Given the description of an element on the screen output the (x, y) to click on. 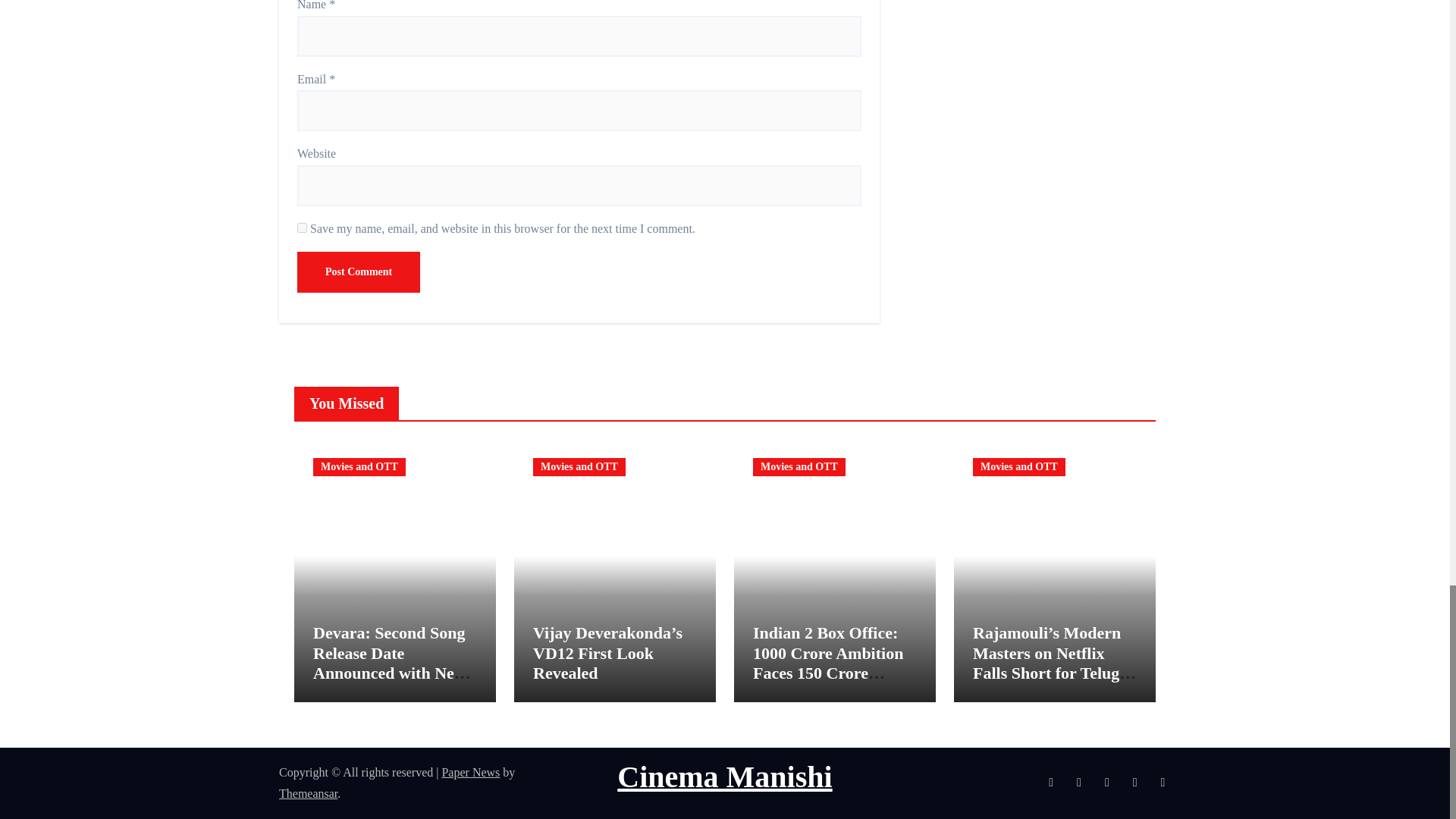
Post Comment (358, 271)
yes (302, 227)
